Given the description of an element on the screen output the (x, y) to click on. 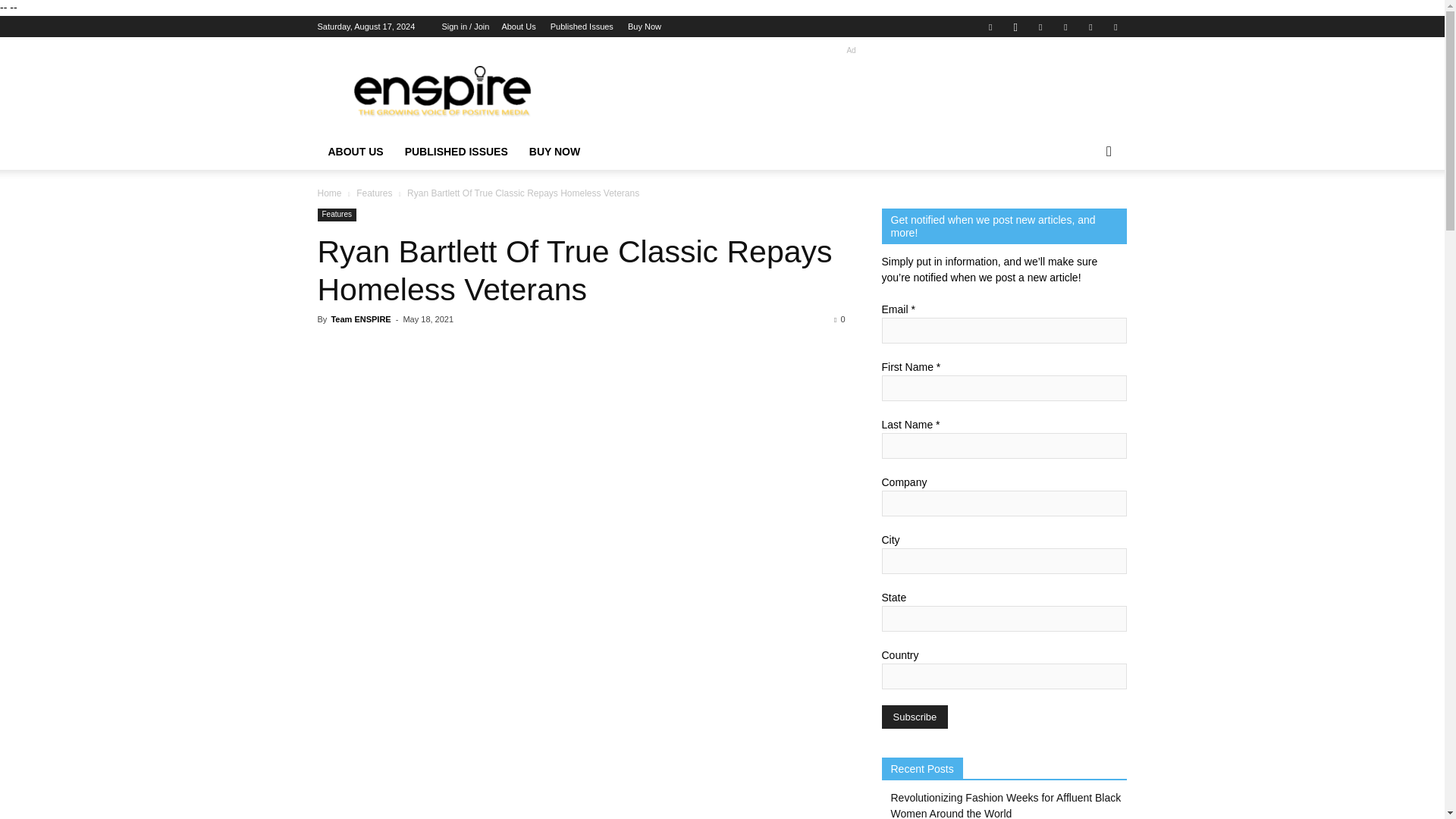
Linkedin (1040, 25)
PUBLISHED ISSUES (456, 151)
Buy Now (644, 26)
Twitter (1090, 25)
ABOUT US (355, 151)
Mail (1065, 25)
View all posts in Features (373, 193)
Published Issues (581, 26)
Youtube (1114, 25)
Subscribe (913, 716)
